Given the description of an element on the screen output the (x, y) to click on. 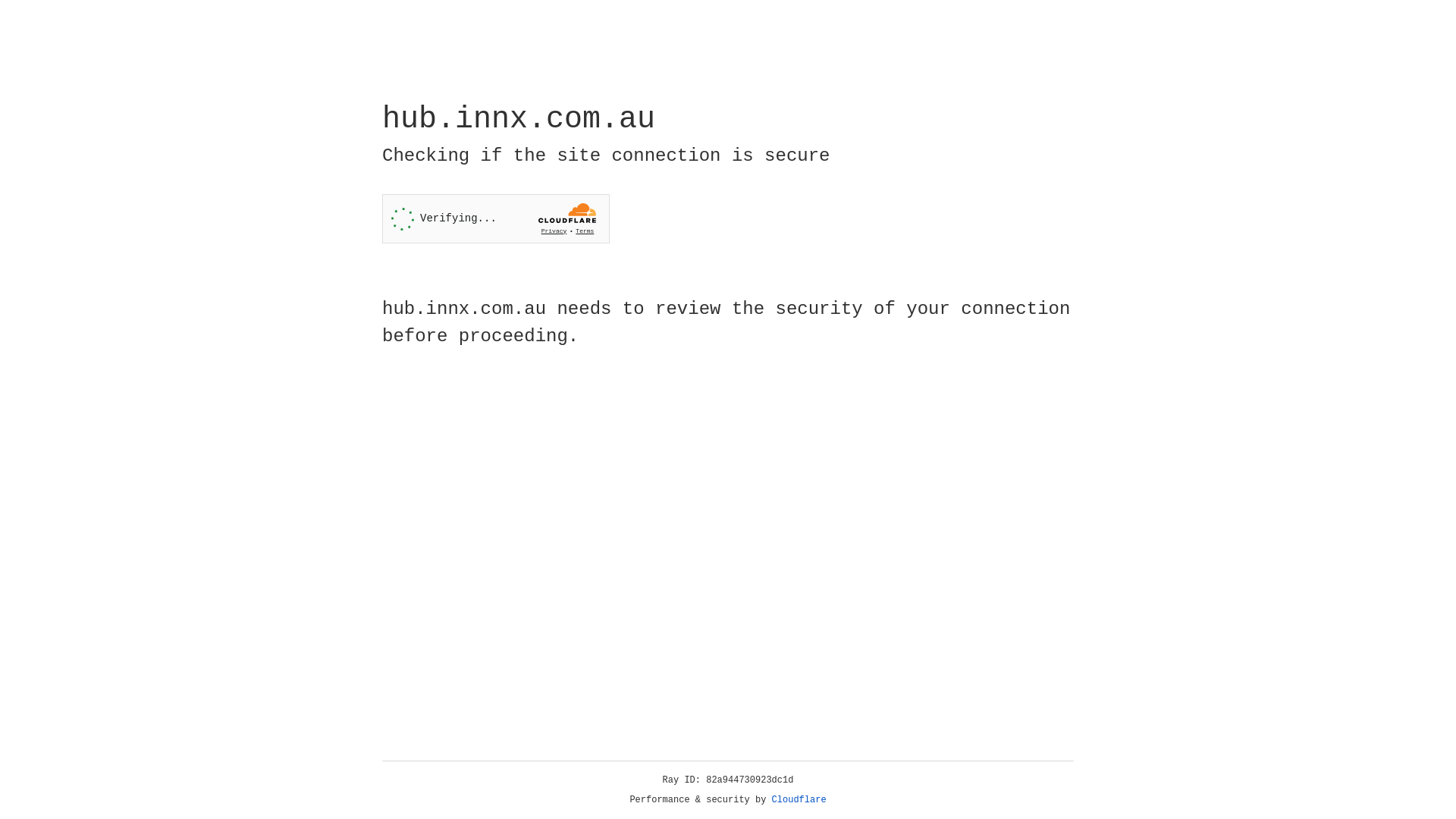
Cloudflare Element type: text (798, 799)
Widget containing a Cloudflare security challenge Element type: hover (495, 218)
